Given the description of an element on the screen output the (x, y) to click on. 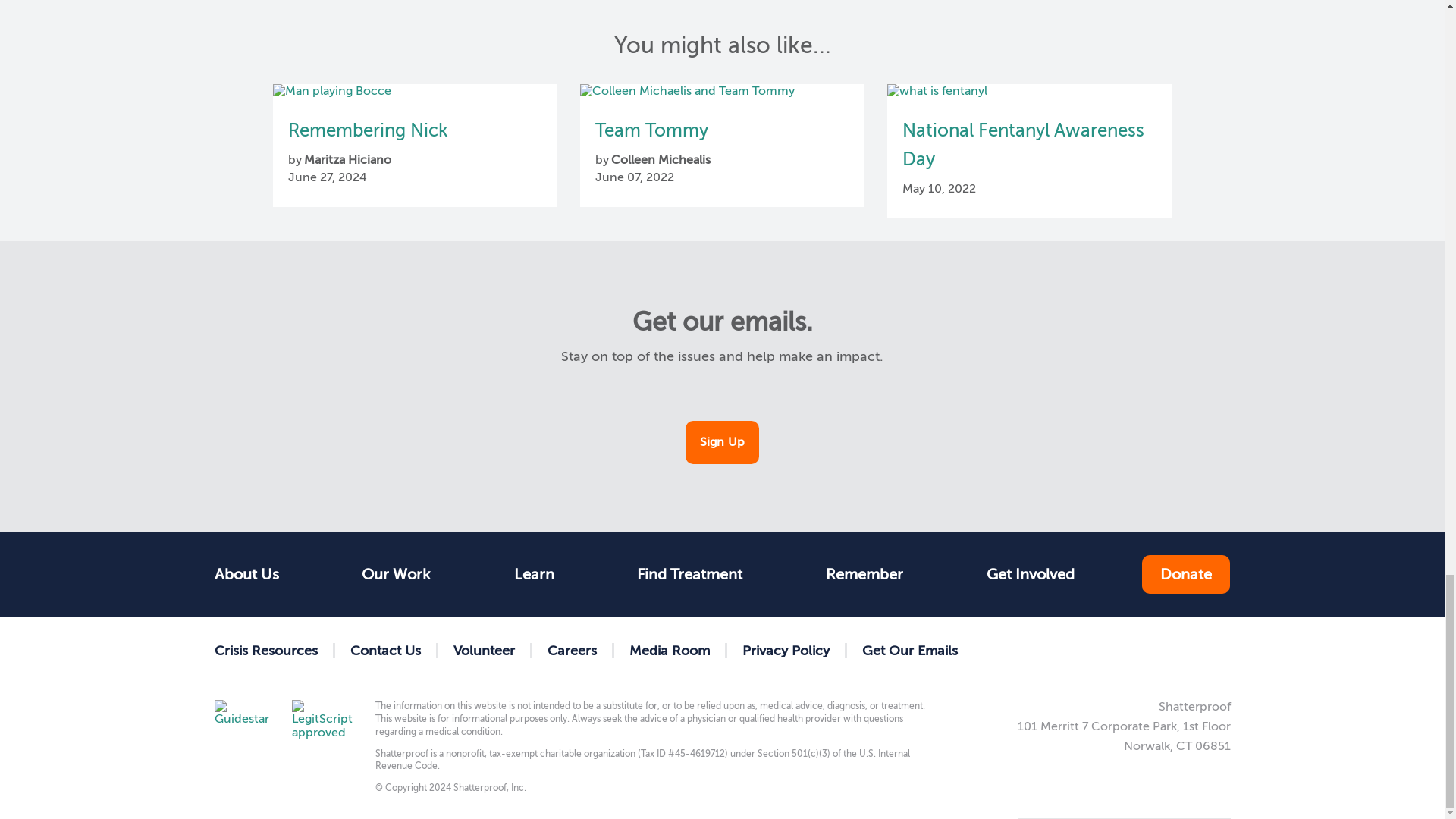
Facebook (1074, 650)
Email (1219, 650)
Press Room (669, 650)
Donate (1185, 574)
About Us (254, 574)
Instagram (1170, 650)
Our Work (395, 574)
Find Help (534, 574)
Twitter (1122, 650)
Get Involved (1030, 574)
